Given the description of an element on the screen output the (x, y) to click on. 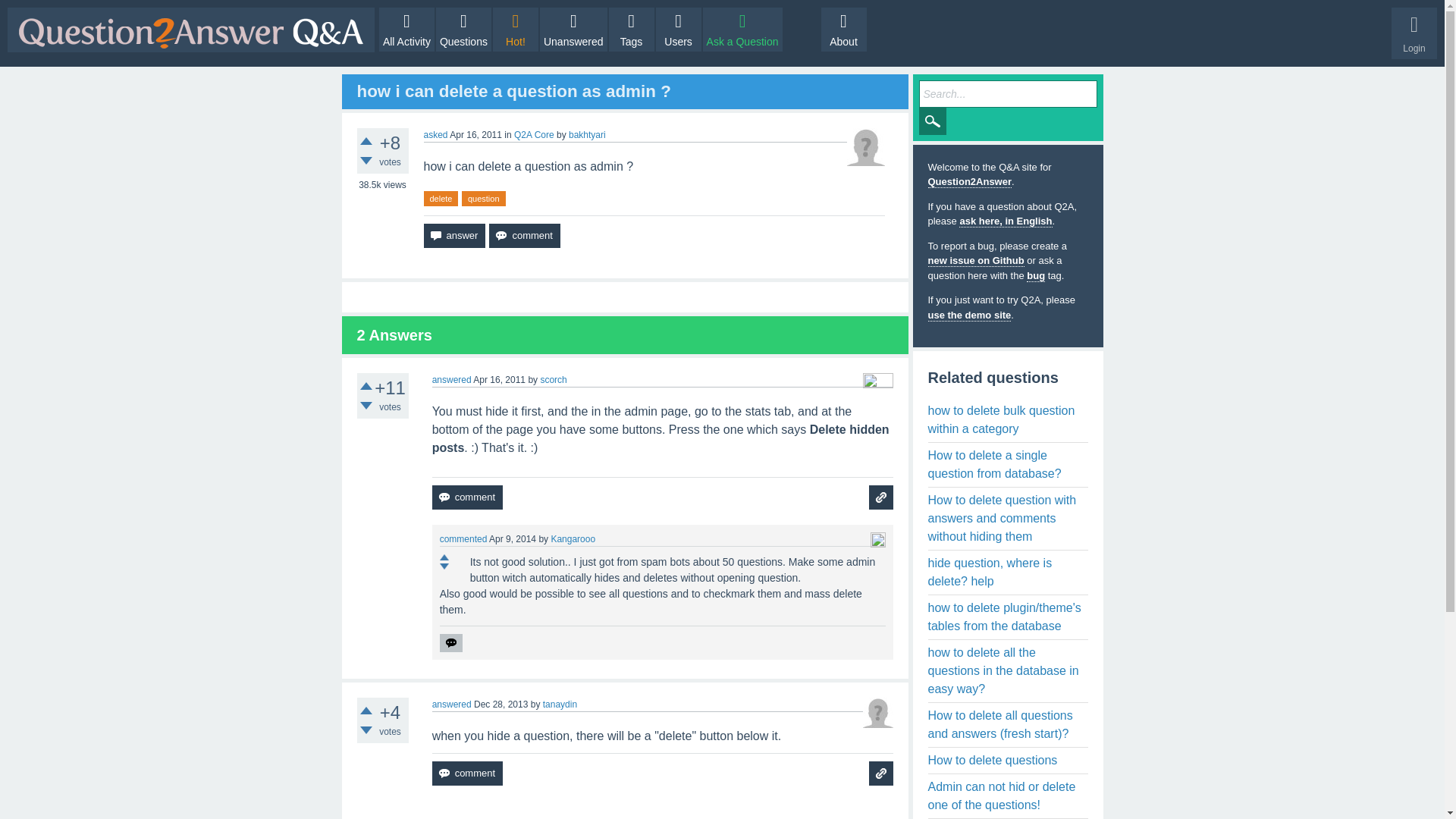
delete (440, 198)
how i can delete a question as admin ? (512, 90)
Reply to this comment (451, 642)
answer (453, 235)
asked (434, 134)
Q2A Core (533, 134)
Click to vote up (365, 385)
Users (678, 29)
Search (932, 121)
Add a comment on this question (524, 235)
scorch (553, 379)
Click to vote down (365, 405)
Click to vote up (443, 557)
Click to vote down (443, 566)
Tags (630, 29)
